Given the description of an element on the screen output the (x, y) to click on. 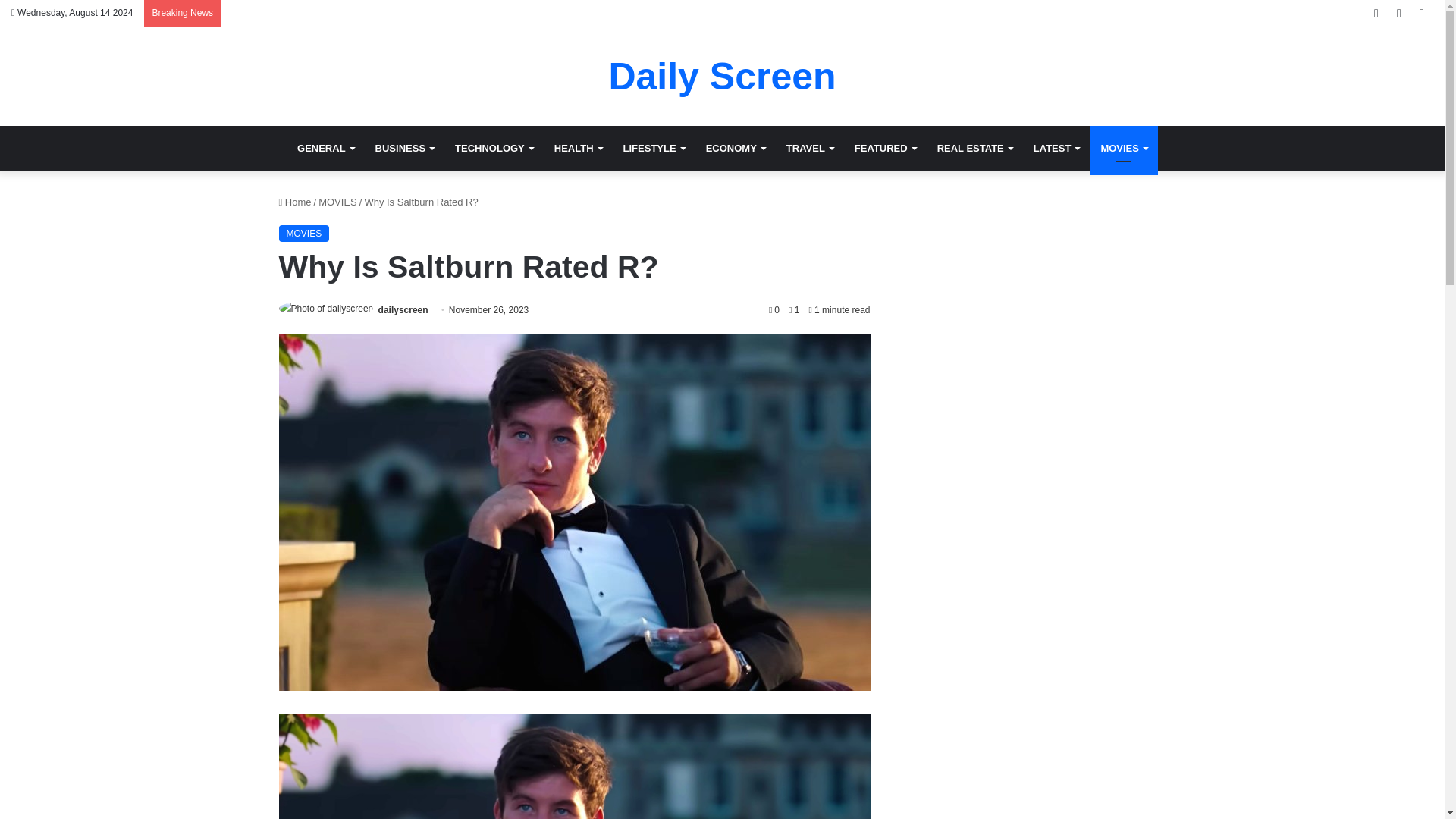
BUSINESS (404, 148)
MOVIES (1123, 148)
dailyscreen (403, 309)
MOVIES (304, 233)
MOVIES (337, 202)
TECHNOLOGY (493, 148)
LATEST (1056, 148)
REAL ESTATE (974, 148)
FEATURED (885, 148)
